Given the description of an element on the screen output the (x, y) to click on. 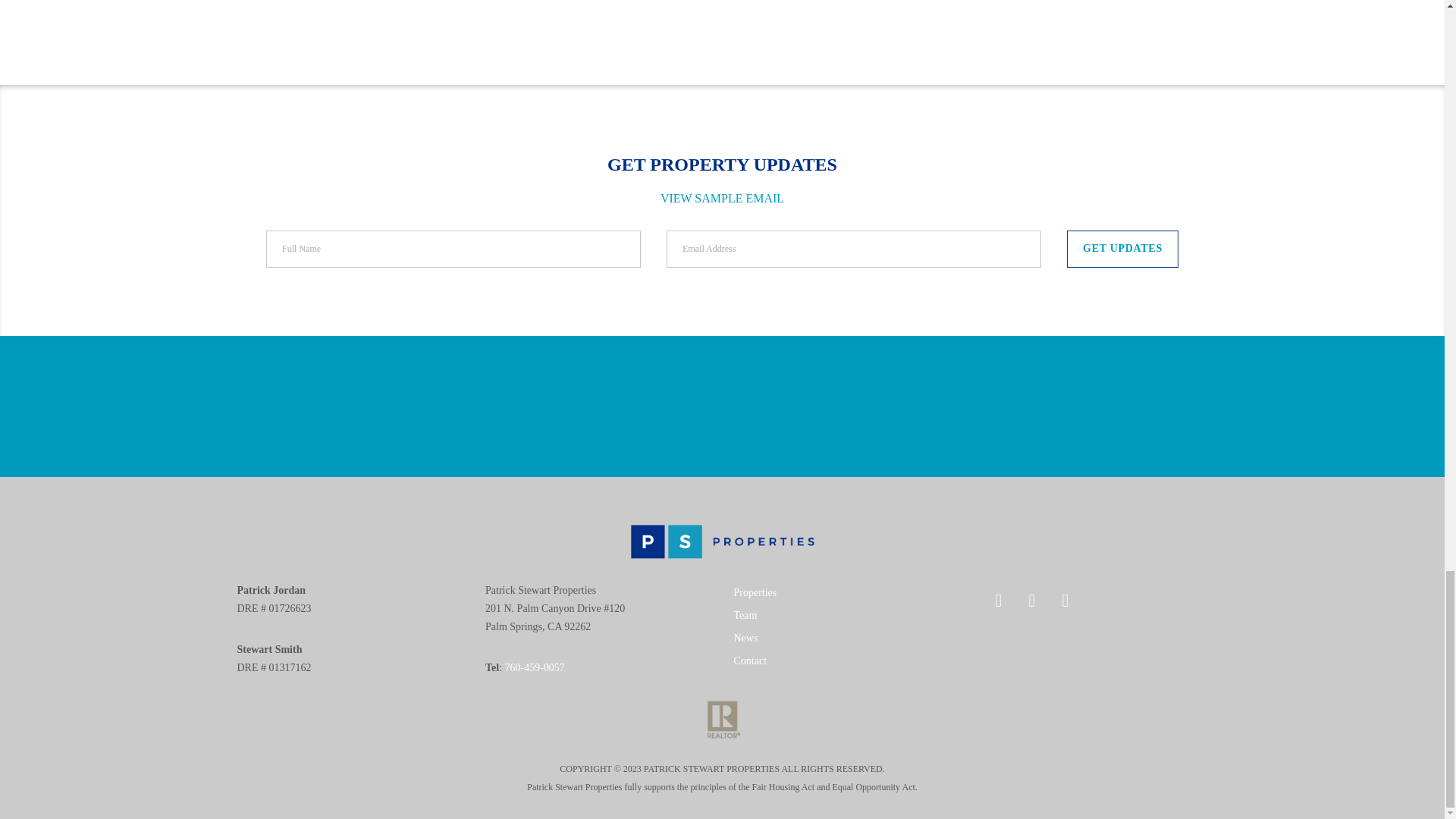
Team (745, 614)
Properties (755, 592)
VIEW SAMPLE EMAIL (722, 197)
760-459-0057 (534, 667)
GET UPDATES (1122, 248)
